Given the description of an element on the screen output the (x, y) to click on. 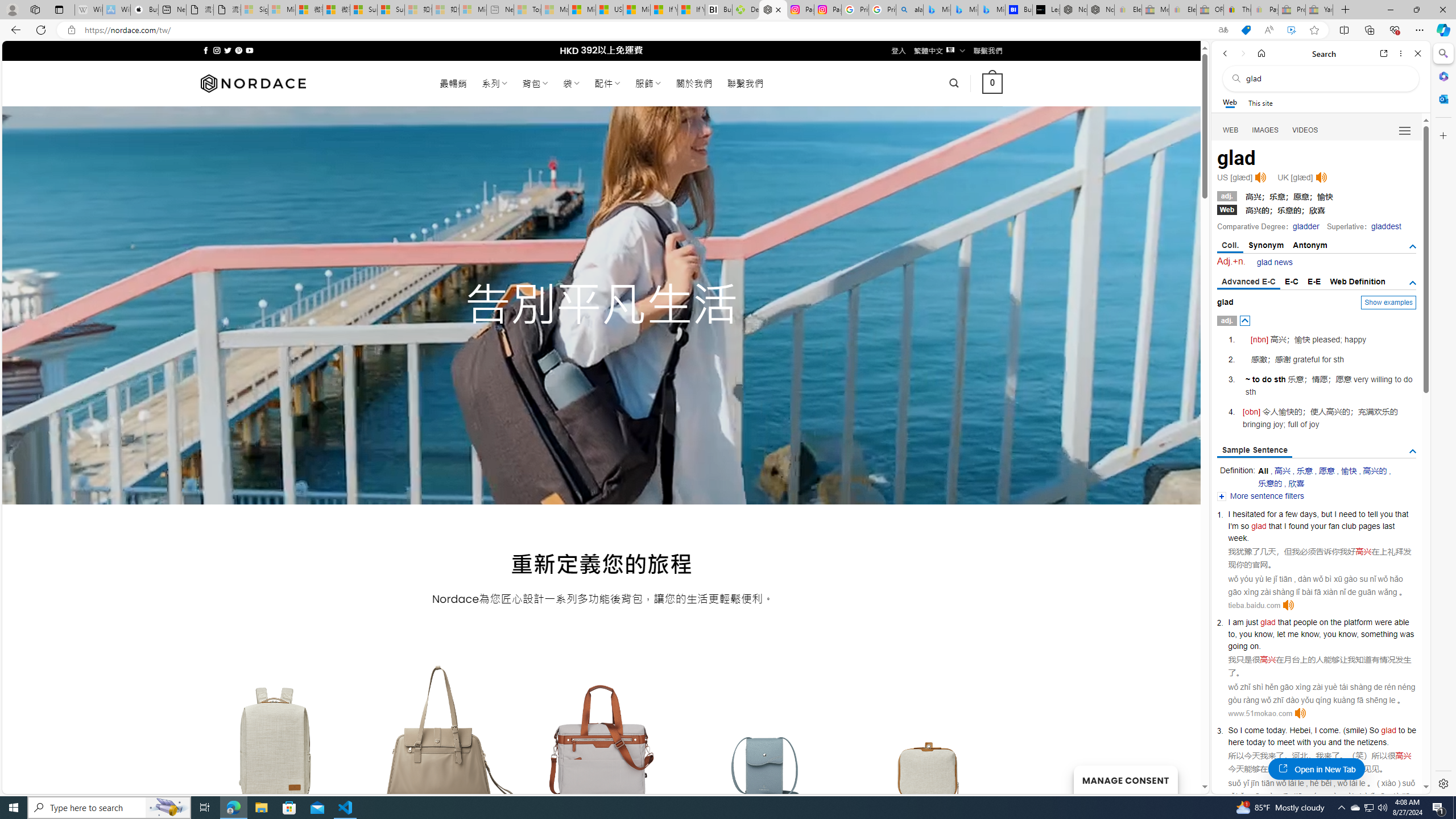
need (1347, 513)
) (1365, 729)
let (1280, 633)
App bar (728, 29)
Sign in to your Microsoft account - Sleeping (254, 9)
Search Filter, VIDEOS (1304, 129)
VIDEOS (1304, 130)
gladdest (1385, 225)
